Given the description of an element on the screen output the (x, y) to click on. 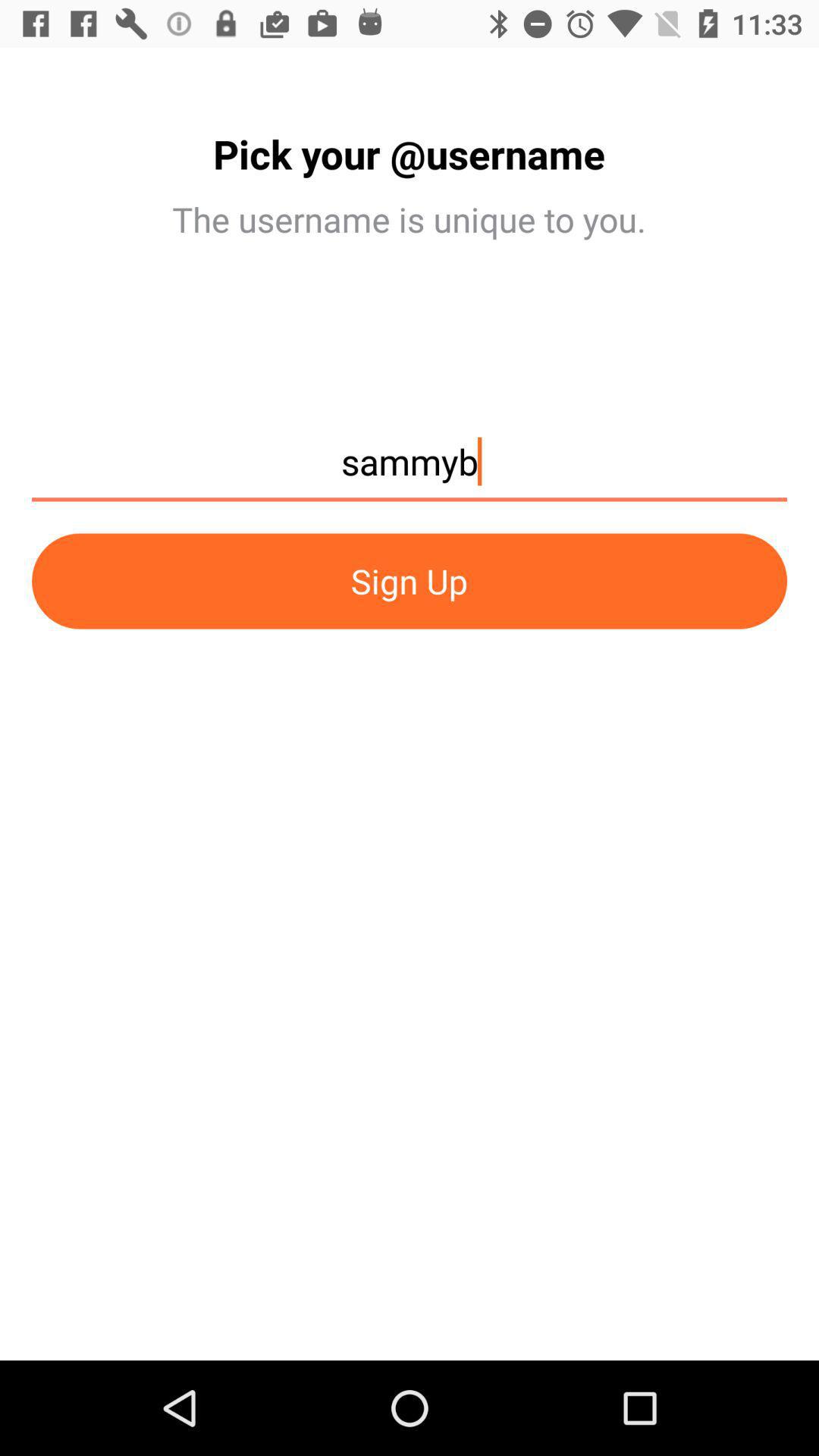
tap the sign up item (409, 581)
